Given the description of an element on the screen output the (x, y) to click on. 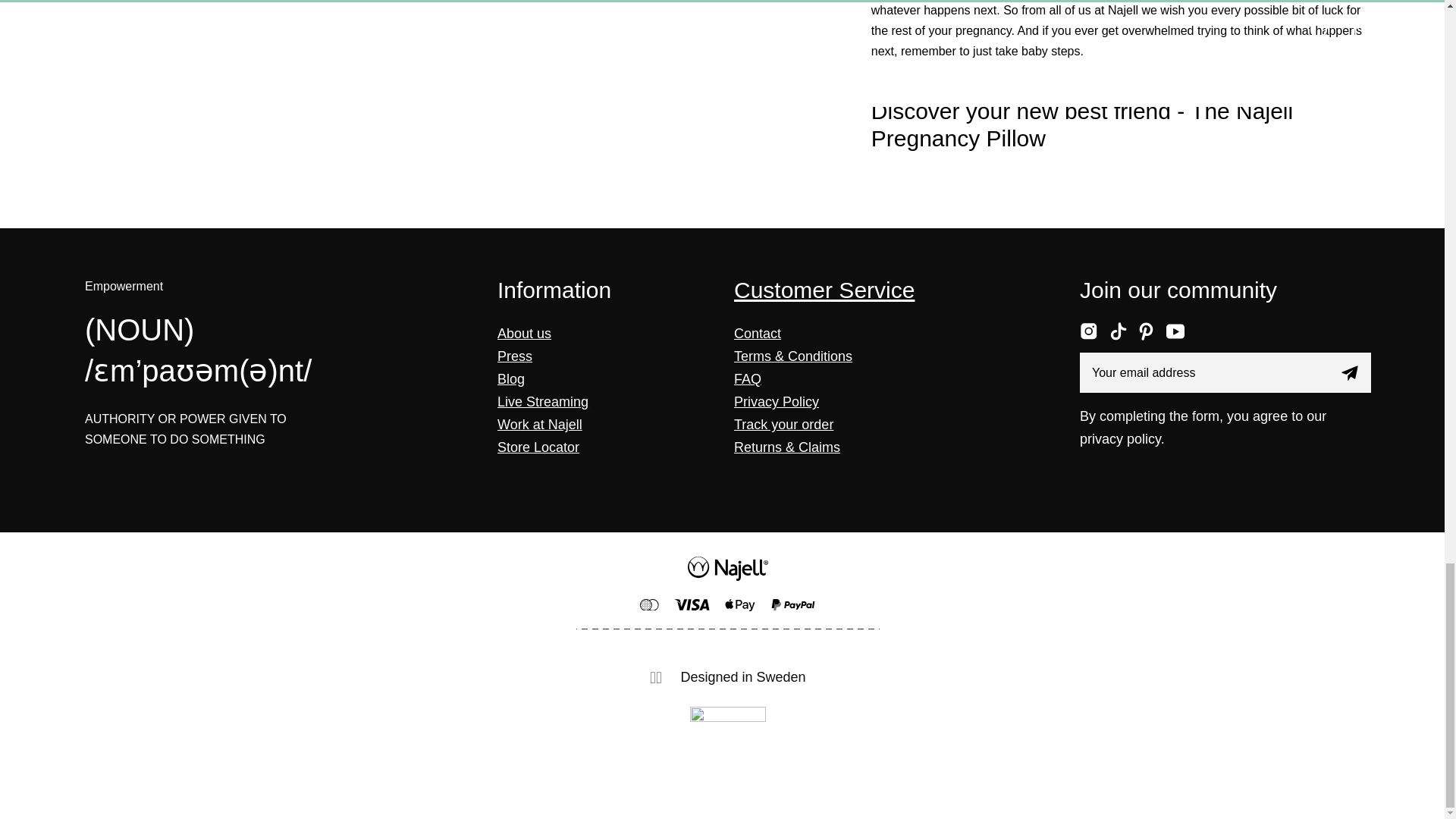
Information (554, 289)
About us (524, 333)
Live Streaming (542, 401)
Blog (510, 378)
Work at Najell (539, 424)
Press (514, 355)
